Given the description of an element on the screen output the (x, y) to click on. 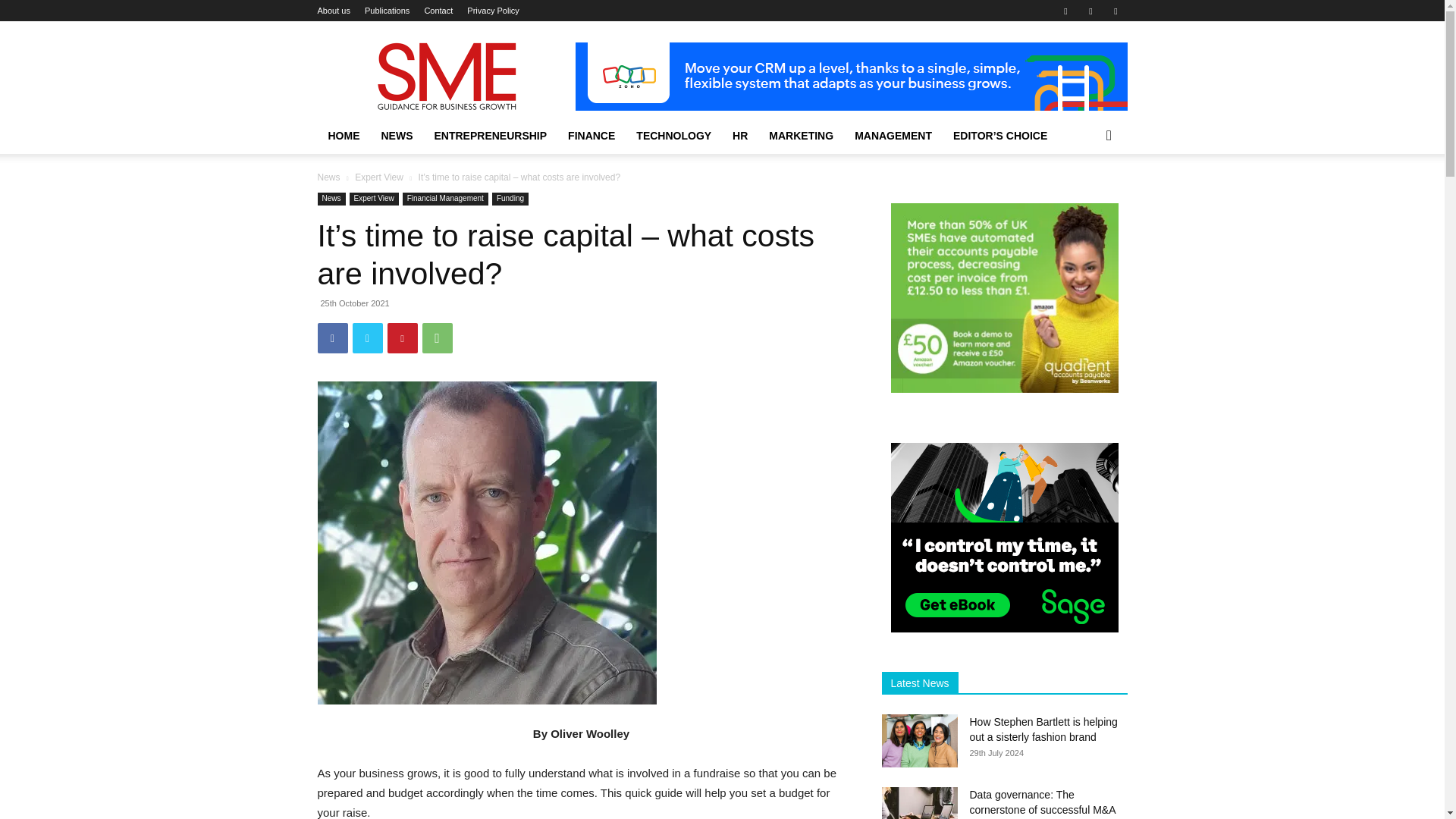
SME Magazine (445, 76)
Oliver Woolley 1.36MB (486, 542)
View all posts in Expert View (379, 176)
Twitter (1114, 10)
View all posts in News (328, 176)
Pinterest (401, 337)
Publications (387, 10)
Facebook (332, 337)
WhatsApp (436, 337)
Facebook (1065, 10)
Contact (437, 10)
About us (333, 10)
Linkedin (1090, 10)
Twitter (366, 337)
Privacy Policy (492, 10)
